Given the description of an element on the screen output the (x, y) to click on. 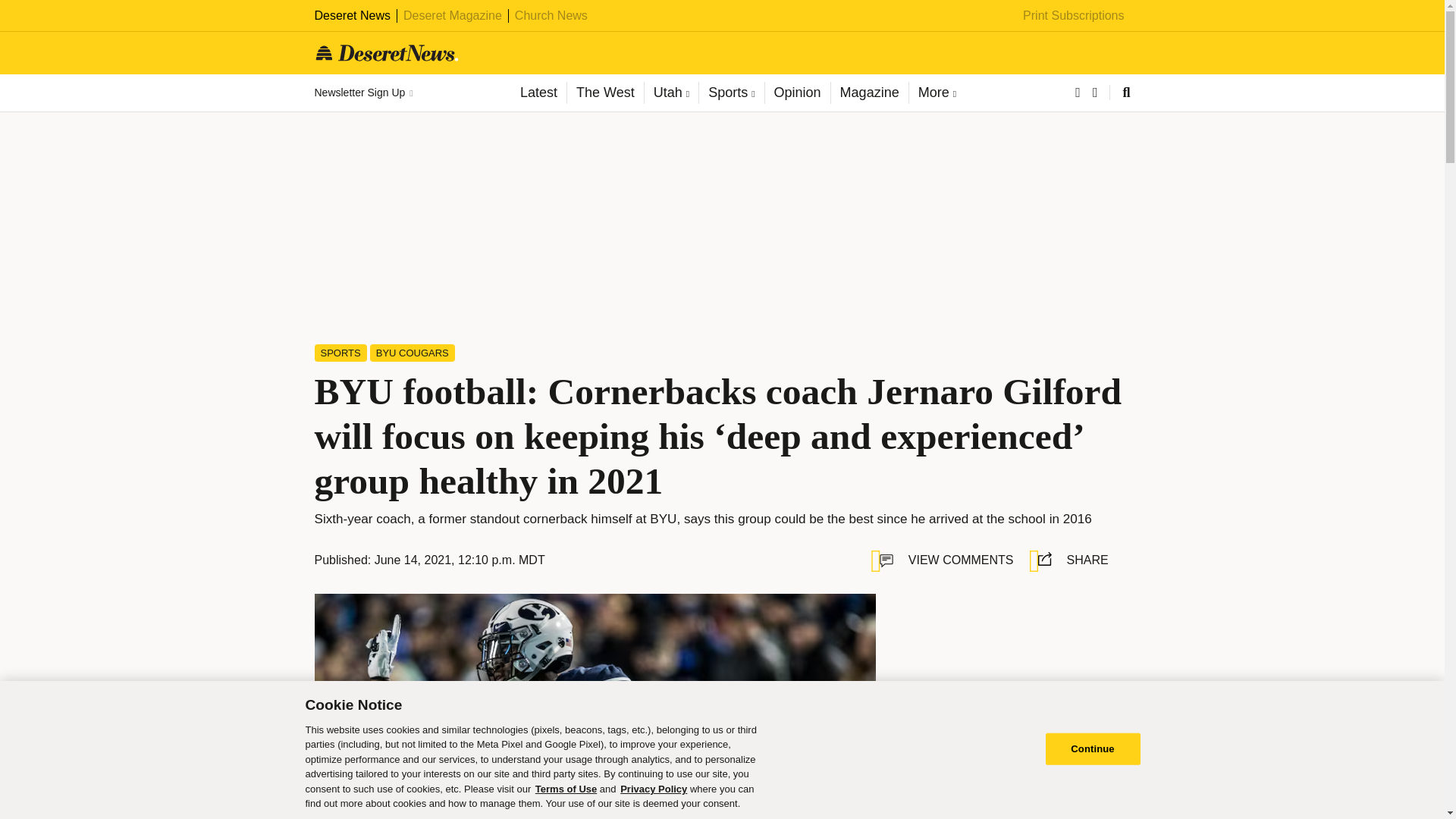
Utah (670, 92)
Latest (538, 92)
Print Subscriptions (1073, 15)
Deseret Magazine (452, 15)
Magazine (868, 92)
BYU COUGARS (411, 352)
Sports (730, 92)
Newsletter Sign Up (363, 92)
Opinion (796, 92)
Deseret News (352, 15)
